Given the description of an element on the screen output the (x, y) to click on. 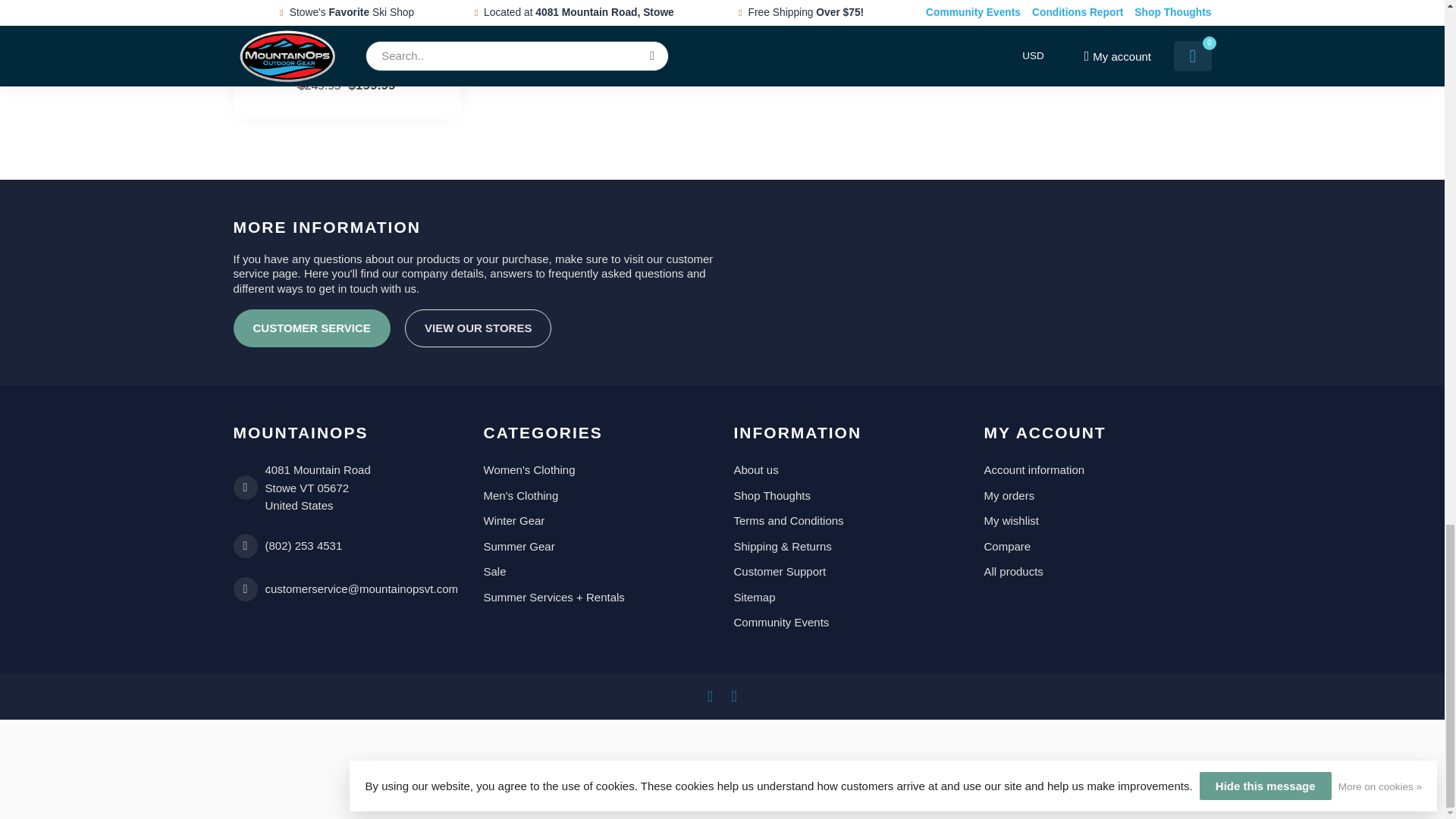
Compare (1097, 546)
Credit Card (723, 757)
Terms and Conditions  (846, 520)
My wishlist (1097, 520)
Customer Support (846, 571)
Shred Shred Basher Ultimate Helmet (346, 51)
Account information (1097, 470)
My orders (1097, 495)
About us (846, 470)
Sitemap (846, 597)
